Given the description of an element on the screen output the (x, y) to click on. 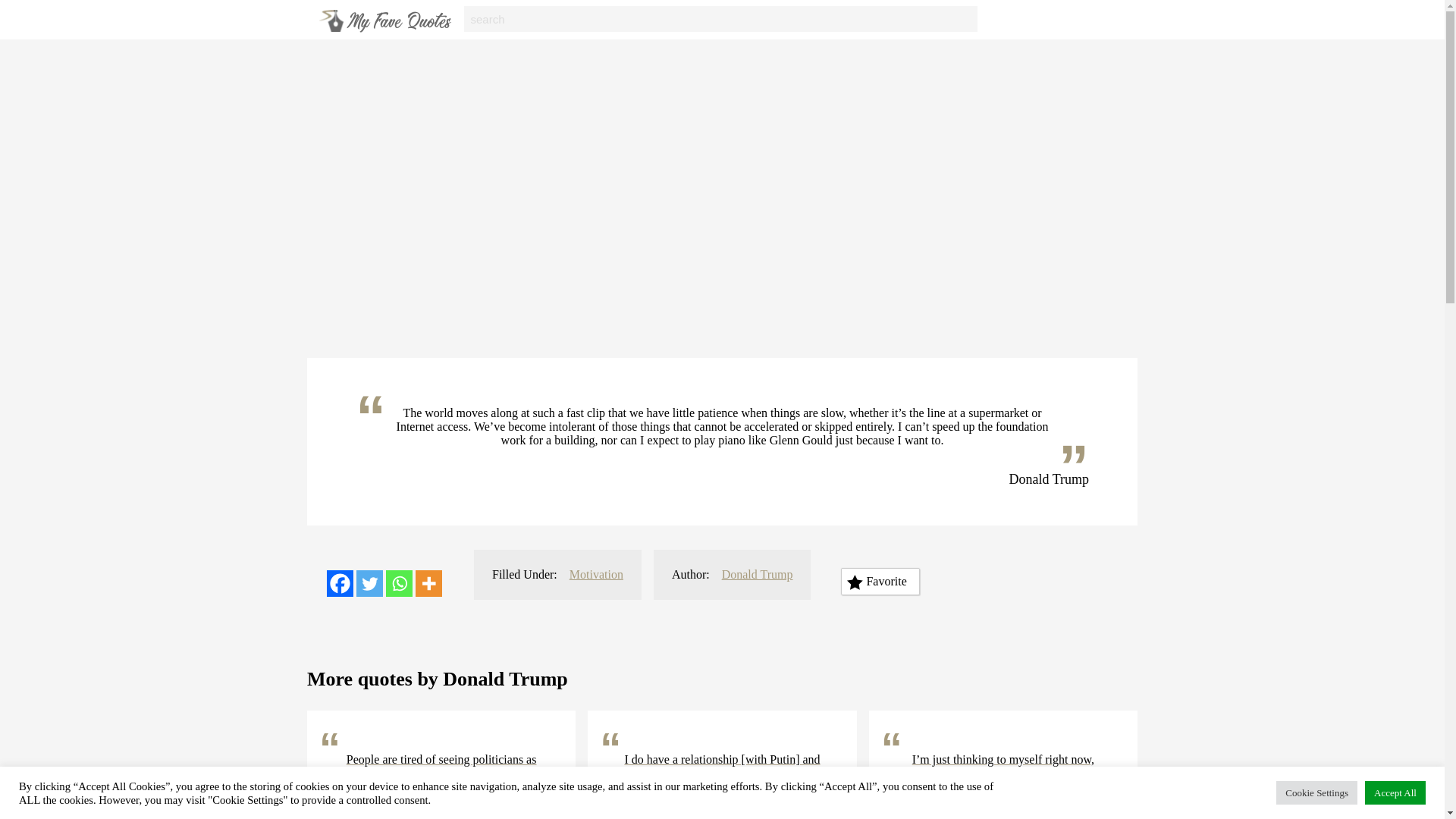
Donald Trump (757, 574)
Whatsapp (398, 583)
Twitter (369, 583)
More (428, 583)
Motivation (596, 574)
Facebook (339, 583)
